Given the description of an element on the screen output the (x, y) to click on. 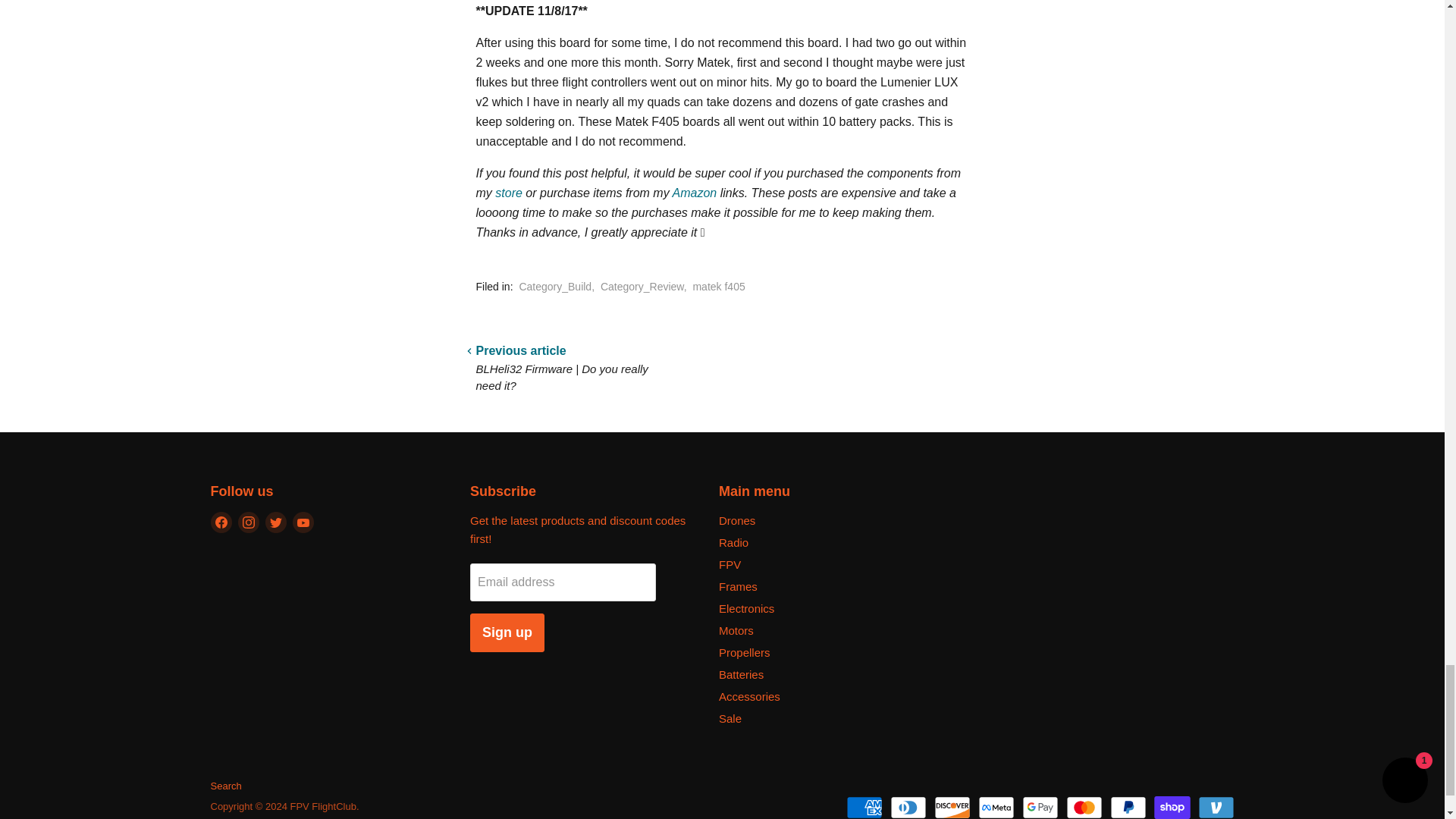
Mastercard (1083, 807)
Facebook (221, 522)
Meta Pay (996, 807)
Twitter (275, 522)
Shop Pay (1172, 807)
Instagram (248, 522)
YouTube (303, 522)
Discover (952, 807)
PayPal (1128, 807)
American Express (863, 807)
